Given the description of an element on the screen output the (x, y) to click on. 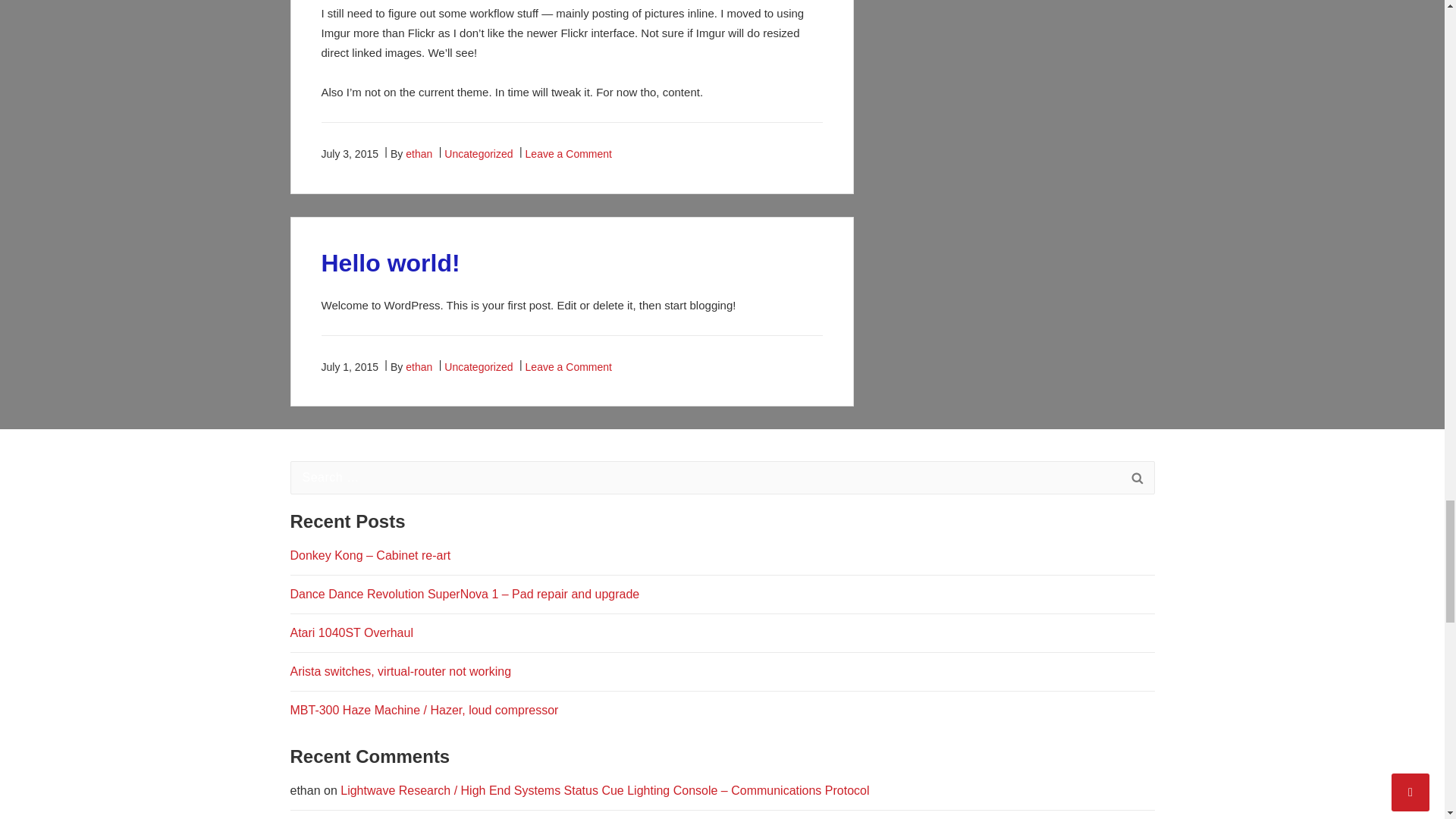
Search (1136, 478)
Search (1136, 478)
ethan (419, 367)
Hello world! (390, 262)
View all posts by ethan (419, 367)
Uncategorized (478, 153)
ethan (419, 153)
Leave a Comment (568, 153)
Uncategorized (478, 367)
View all posts by ethan (419, 153)
Leave a Comment (568, 367)
